Given the description of an element on the screen output the (x, y) to click on. 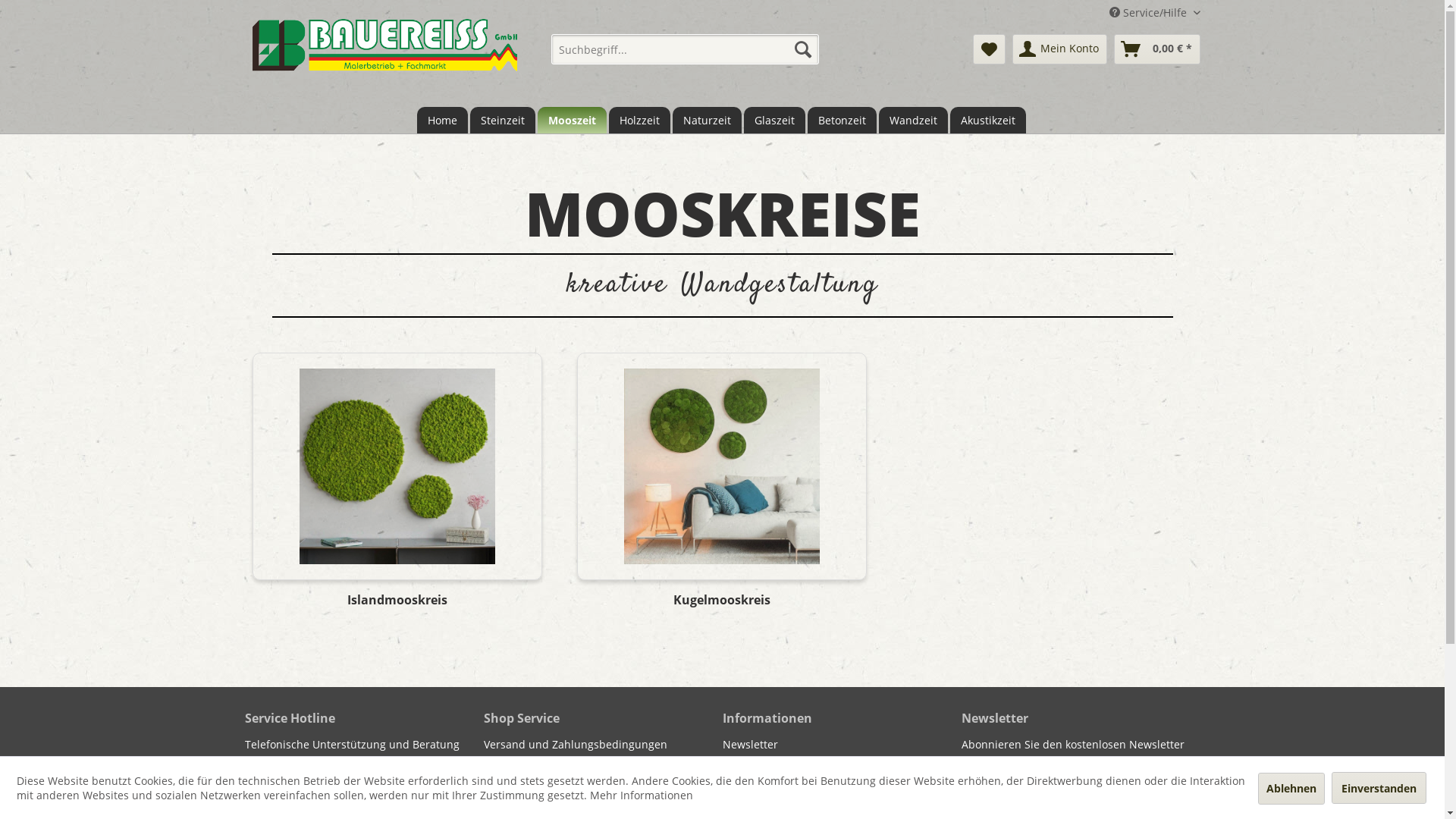
Kugelmooskreis Element type: hover (721, 466)
Widerrufsrecht Element type: text (599, 780)
Home Element type: text (442, 119)
Kugelmooskreis Element type: hover (721, 466)
Holzzeit Element type: text (638, 119)
Dienstleistungen Element type: text (837, 799)
AGB Element type: text (599, 799)
Islandmooskreis Element type: hover (397, 466)
+49(0)9861/5645 Element type: text (291, 780)
Naturzeit Element type: text (705, 119)
Mehr Informationen Element type: text (641, 794)
Glaszeit Element type: text (773, 119)
Steinzeit Element type: text (502, 119)
Merkzettel Element type: hover (988, 49)
Mooszeit Element type: text (570, 119)
Impressum Element type: text (837, 780)
Akustikzeit Element type: text (987, 119)
Kugelmooskreis Element type: text (721, 607)
Datenschutz Element type: text (837, 762)
Einverstanden Element type: text (1378, 787)
Betonzeit Element type: text (840, 119)
Wandzeit Element type: text (912, 119)
Islandmooskreis Element type: text (397, 607)
bauereiss.raumzeit.cc - zur Startseite wechseln Element type: hover (384, 54)
Ablehnen Element type: text (1291, 788)
Newsletter Element type: text (837, 744)
Islandmooskreis Element type: hover (397, 466)
Mein Konto Element type: text (1058, 49)
Versand und Zahlungsbedingungen Element type: text (599, 744)
Kontakt Element type: text (599, 762)
